Given the description of an element on the screen output the (x, y) to click on. 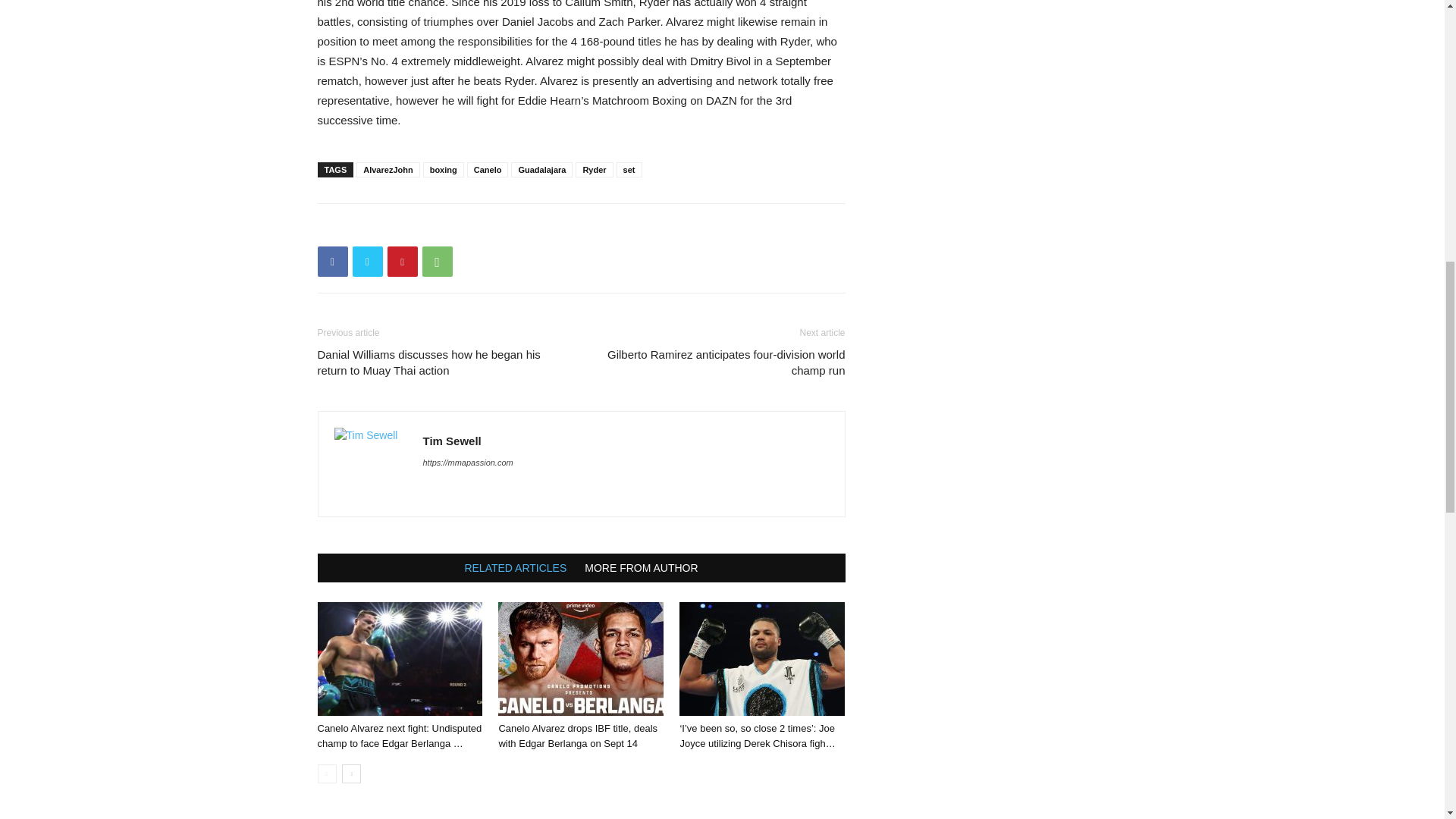
Twitter (366, 261)
Facebook (332, 261)
boxing (443, 169)
bottomFacebookLike (430, 227)
Ryder (593, 169)
set (628, 169)
Canelo (487, 169)
Pinterest (401, 261)
AlvarezJohn (387, 169)
WhatsApp (436, 261)
Guadalajara (541, 169)
